Given the description of an element on the screen output the (x, y) to click on. 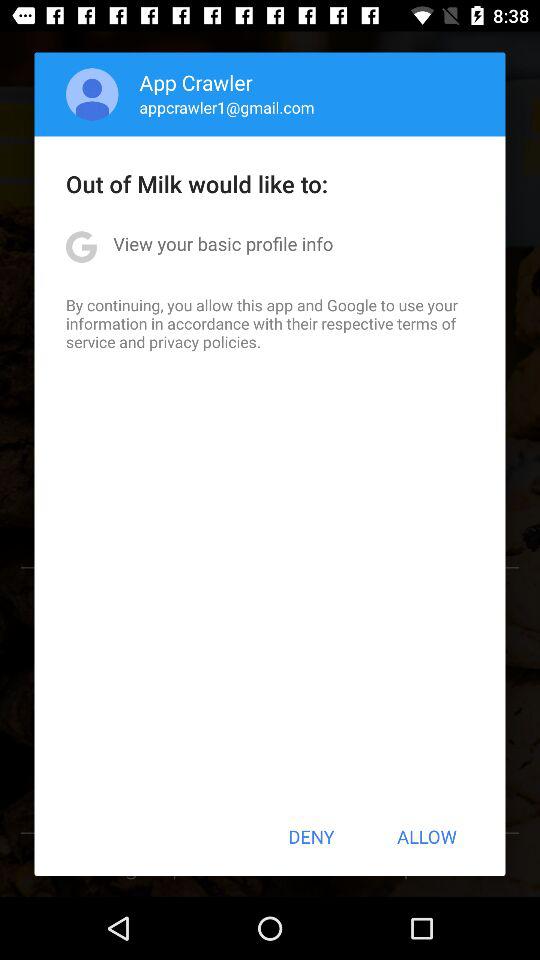
launch icon above the out of milk app (92, 94)
